Given the description of an element on the screen output the (x, y) to click on. 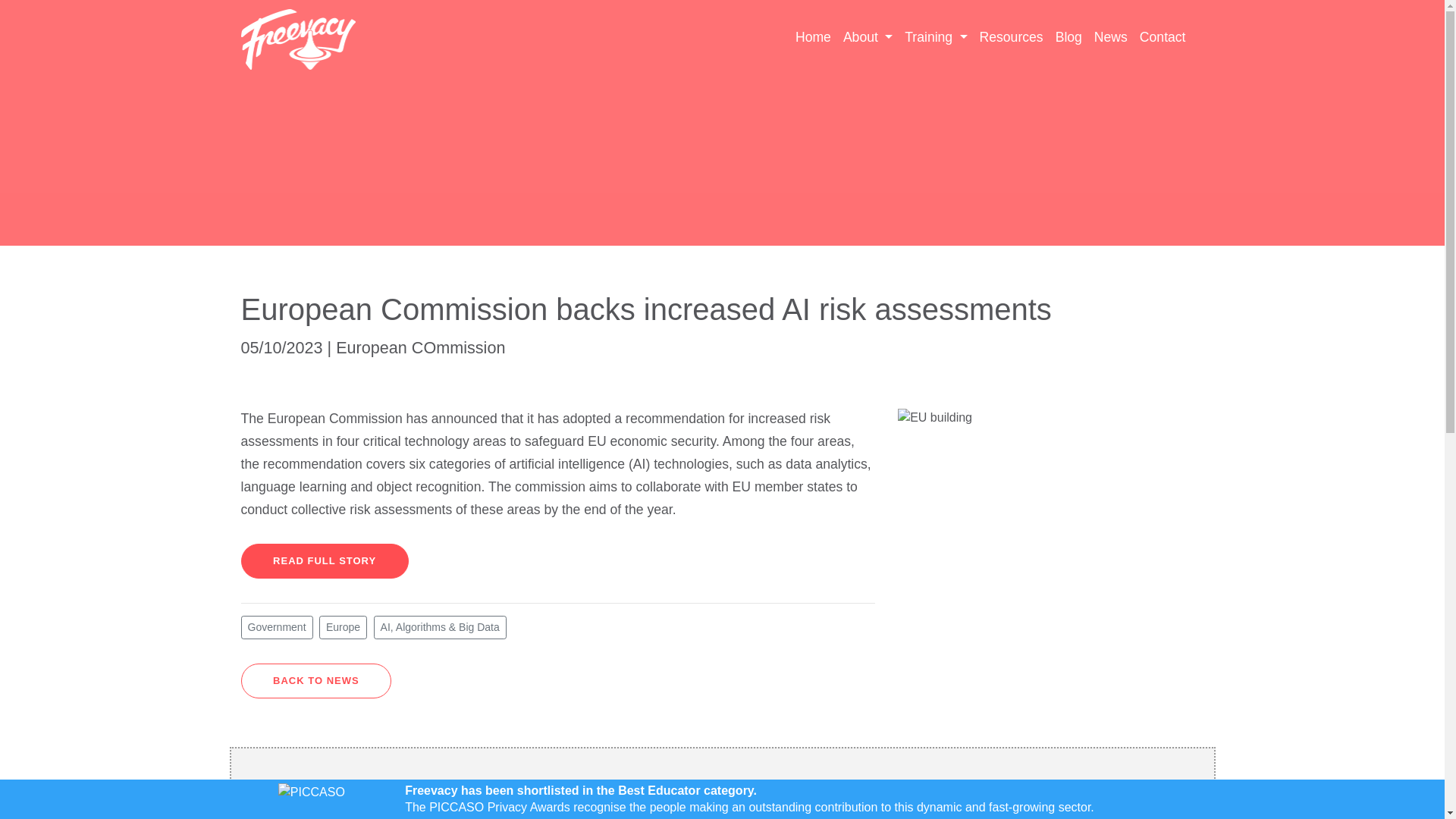
READ FULL STORY (325, 560)
Training (935, 37)
Europe (342, 627)
Resources (1011, 37)
BACK TO NEWS (316, 680)
Blog (1068, 37)
Government (277, 627)
News (1110, 37)
Contact (1163, 37)
About (867, 37)
